Given the description of an element on the screen output the (x, y) to click on. 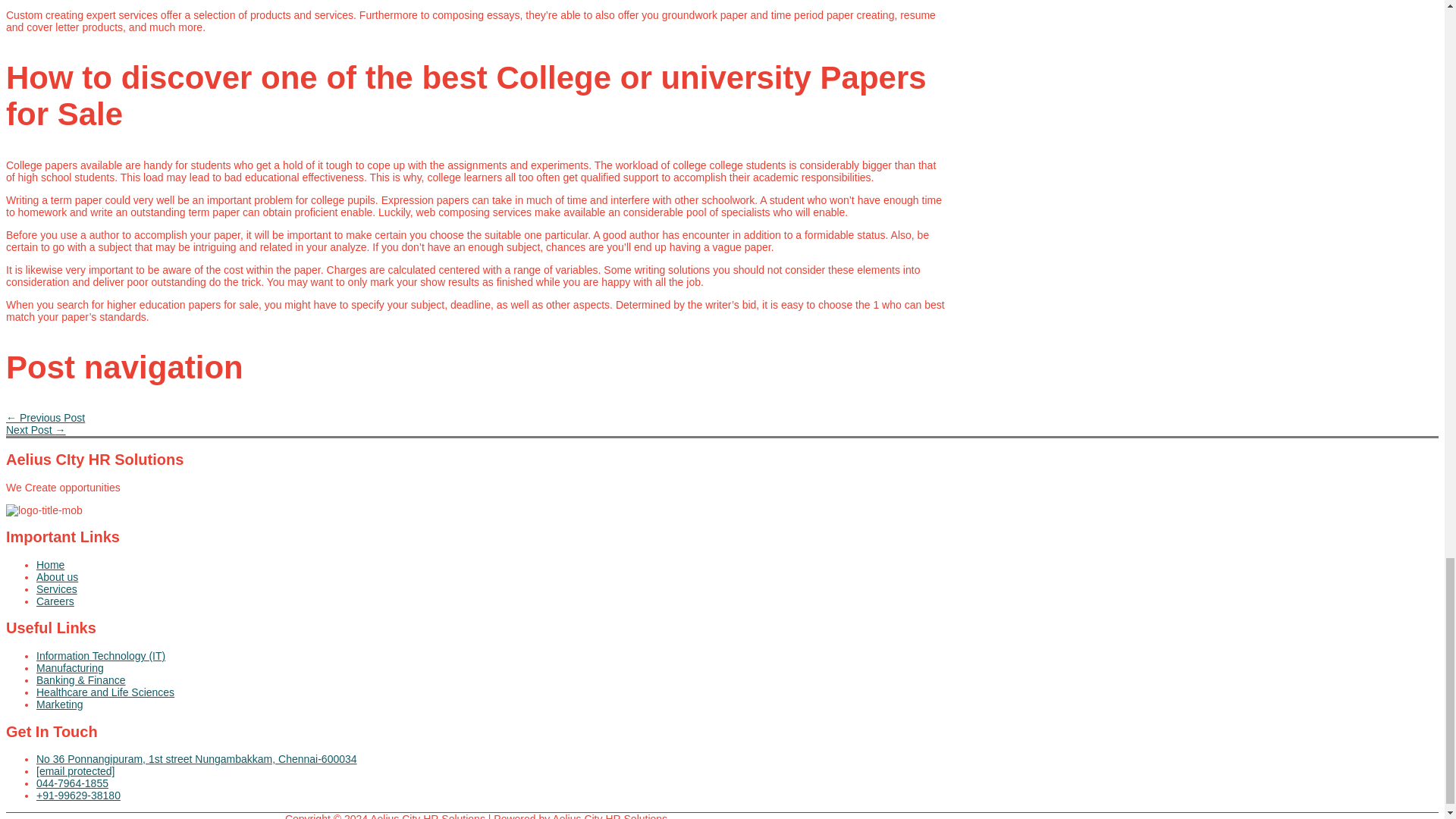
About us (491, 576)
Healthcare and Life Sciences (491, 692)
044-7964-1855 (491, 783)
Marketing (491, 704)
Home (491, 564)
Manufacturing (491, 667)
No 36 Ponnangipuram, 1st street Nungambakkam, Chennai-600034 (491, 758)
Careers (491, 601)
Services (491, 589)
